Given the description of an element on the screen output the (x, y) to click on. 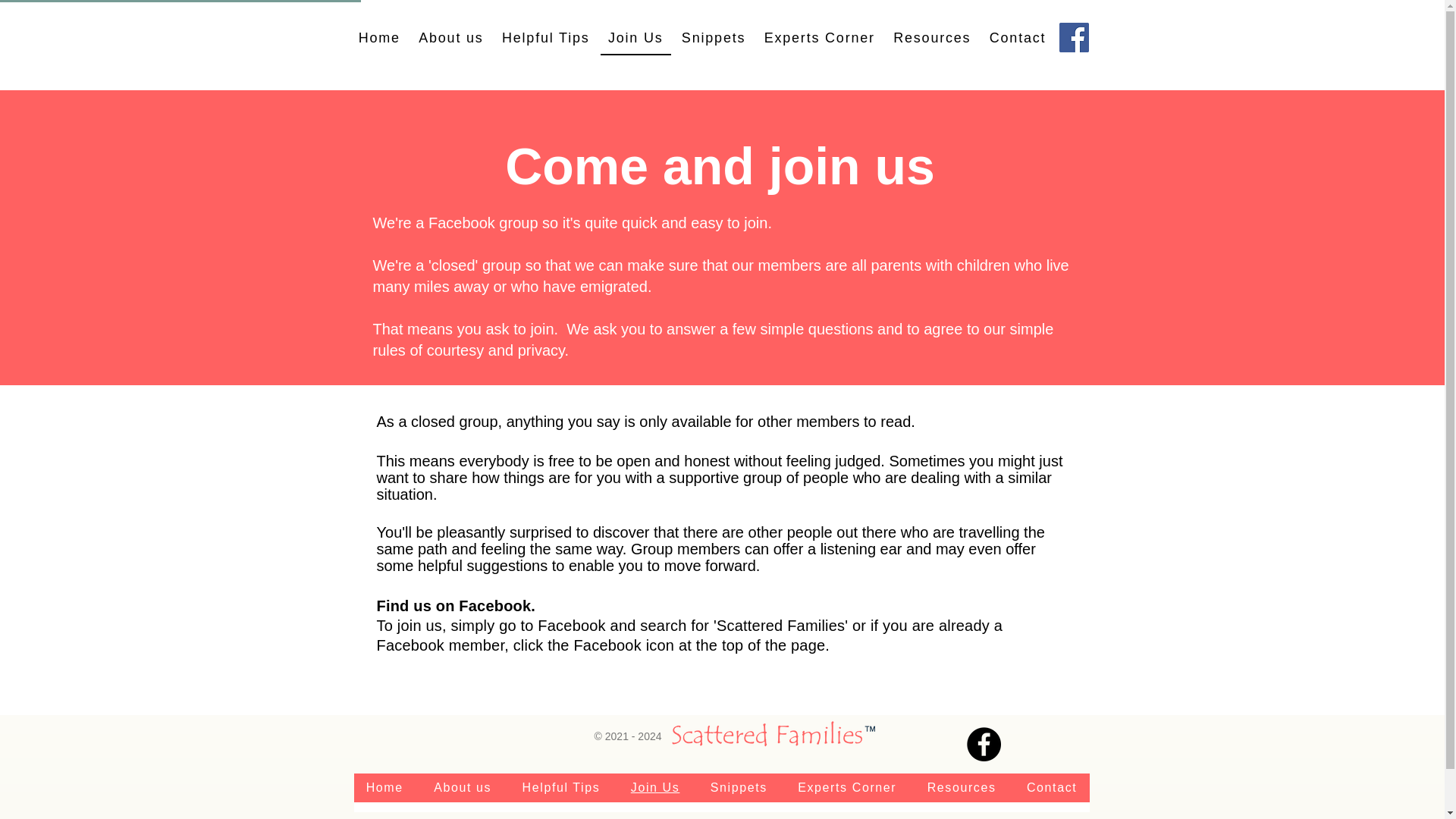
Join Us (635, 38)
Contact (1051, 787)
Helpful Tips (545, 38)
About us (462, 797)
Join Us (655, 797)
Experts Corner (847, 787)
Helpful Tips (560, 797)
Home (383, 797)
Snippets (738, 787)
Contact (1051, 797)
